Given the description of an element on the screen output the (x, y) to click on. 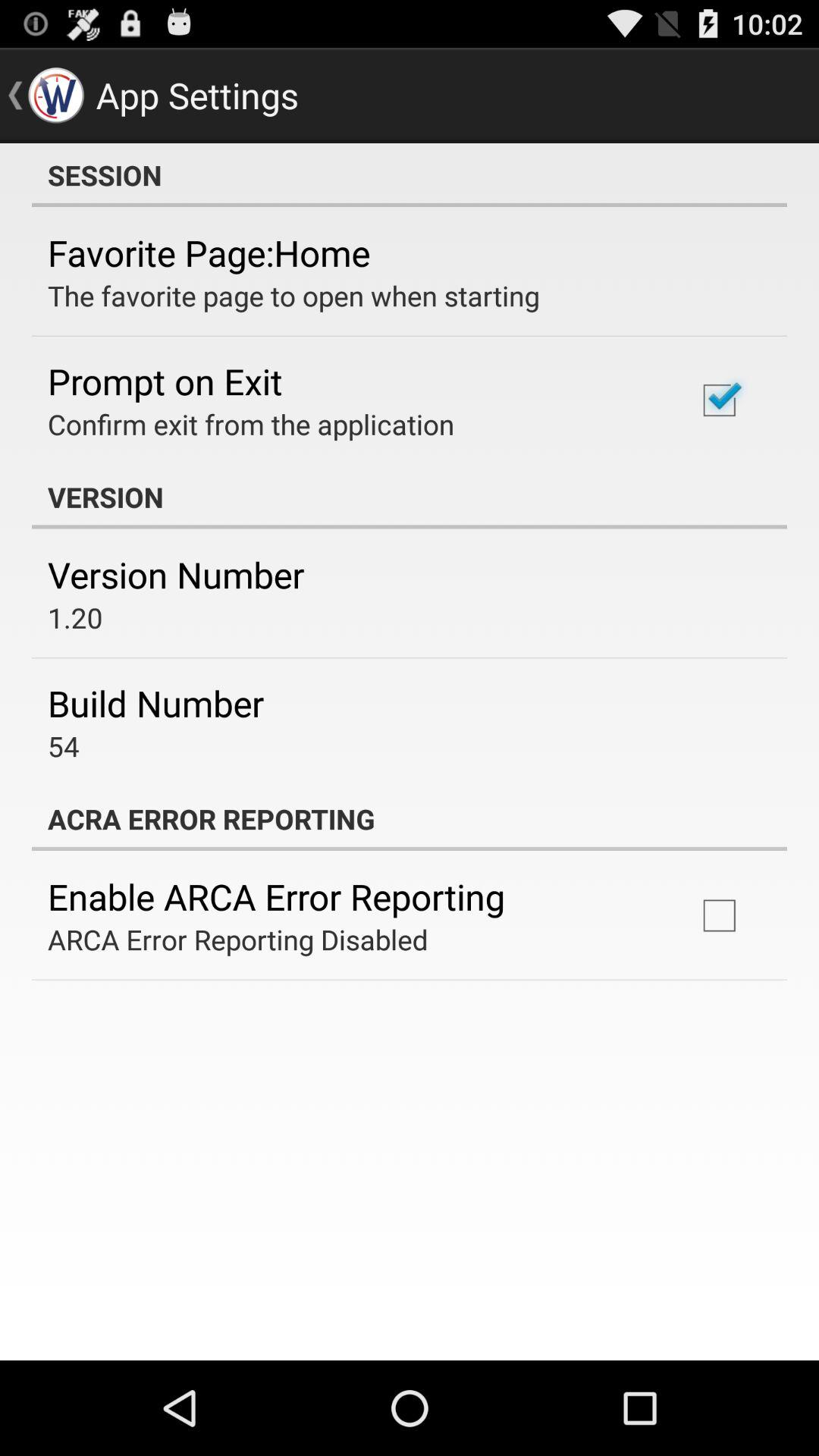
turn on the item above 54 app (155, 703)
